Given the description of an element on the screen output the (x, y) to click on. 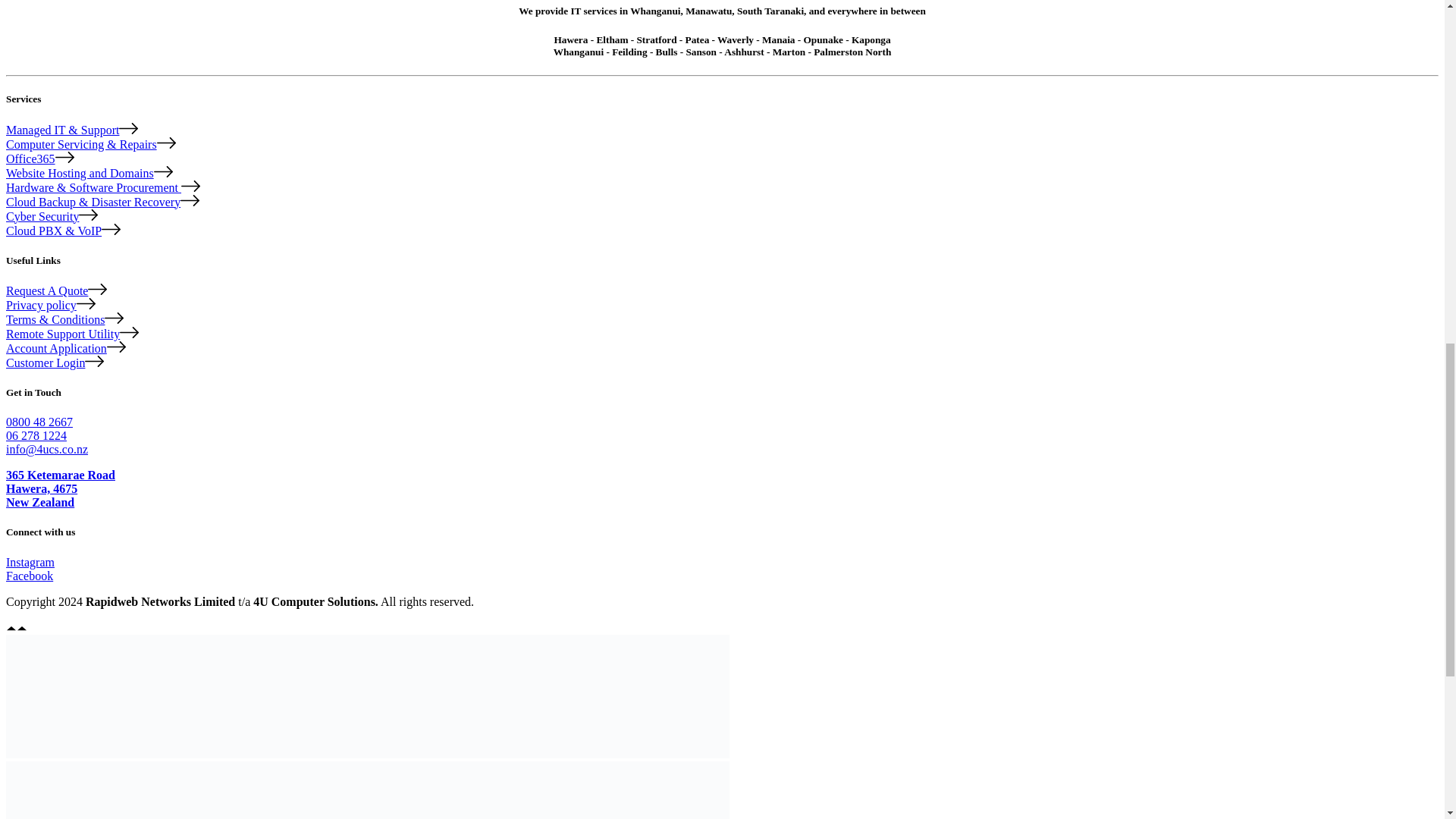
Customer Login (54, 362)
06 278 1224 (35, 435)
Remote Support Utility (71, 333)
Cyber Security (51, 215)
0800 48 2667 (38, 421)
Website Hosting and Domains (89, 173)
Hawera, 4675 (41, 488)
Account Application (65, 348)
New Zealand (39, 502)
365 Ketemarae Road (60, 474)
Request A Quote (55, 290)
Office365 (39, 158)
Privacy policy (50, 305)
